Given the description of an element on the screen output the (x, y) to click on. 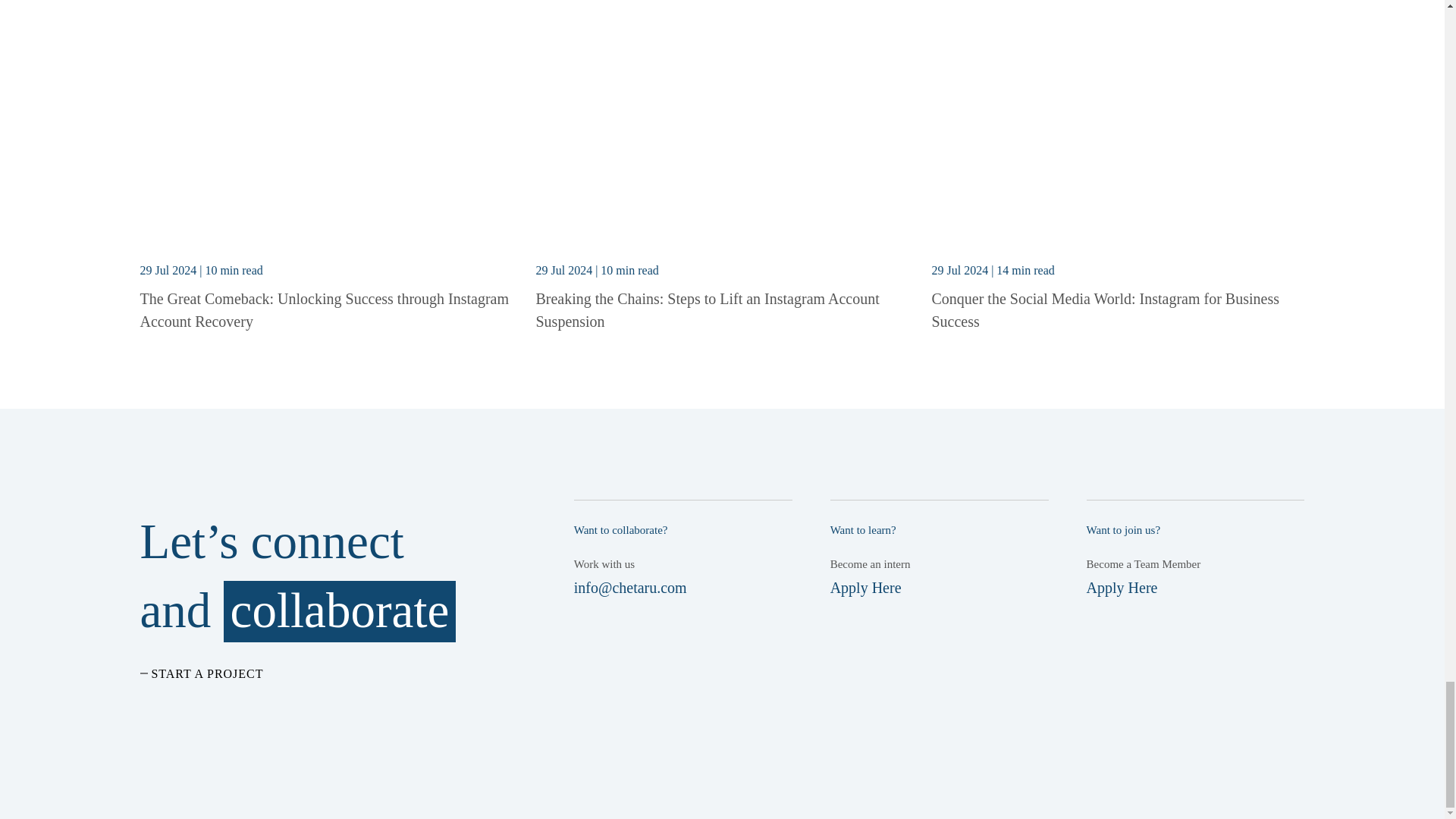
Apply Here (1121, 587)
Apply Here (865, 587)
START A PROJECT (201, 673)
